Given the description of an element on the screen output the (x, y) to click on. 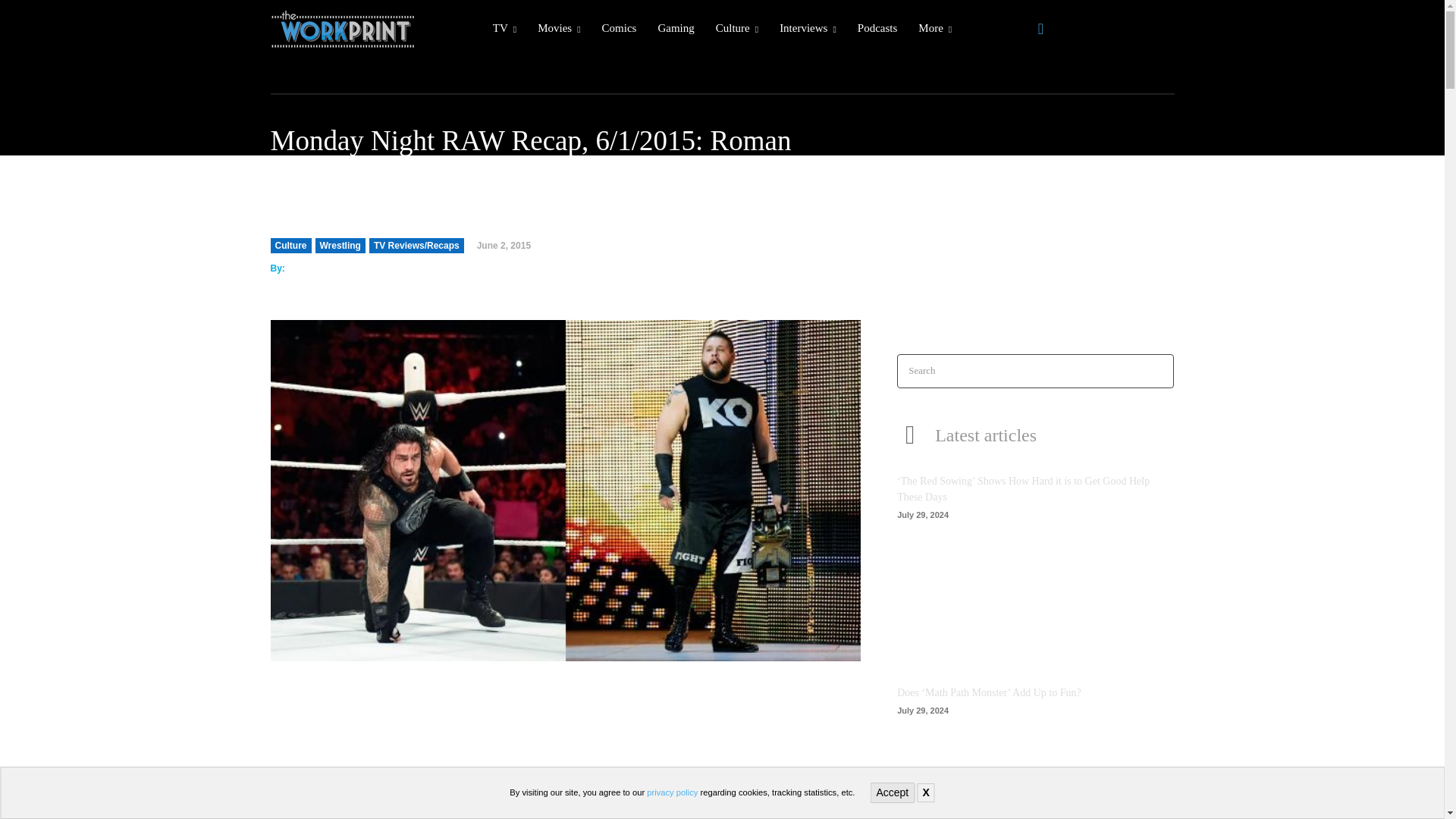
privacy policy (671, 791)
X (925, 792)
Accept (891, 792)
